Given the description of an element on the screen output the (x, y) to click on. 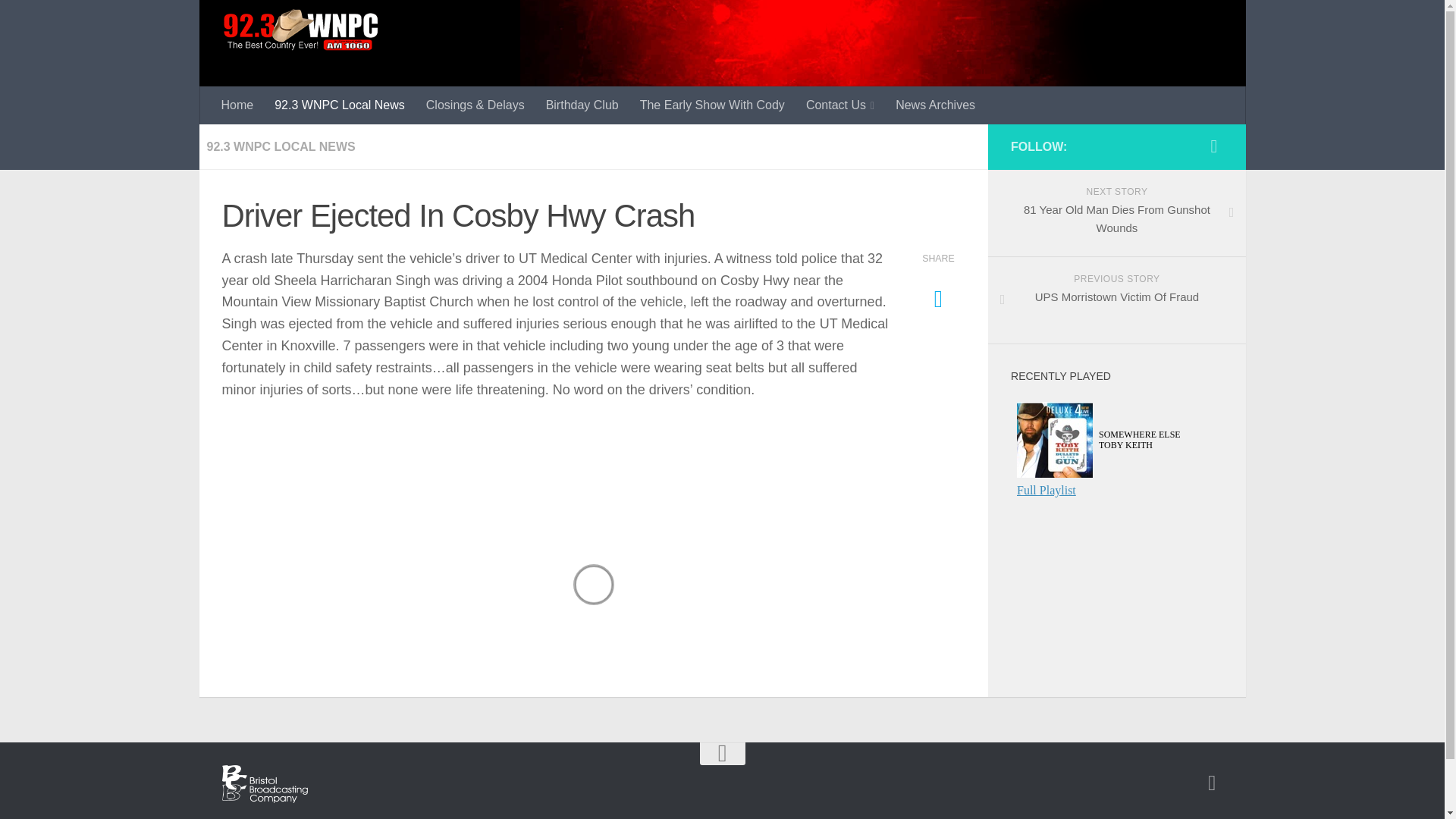
92.3 WNPC LOCAL NEWS (280, 146)
News Archives (935, 105)
Home (237, 105)
92.3 WNPC Local News (338, 105)
Follow us on Facebook (1212, 783)
Follow us on Facebook (1115, 213)
The Early Show With Cody (1115, 300)
Contact Us (1213, 146)
